Given the description of an element on the screen output the (x, y) to click on. 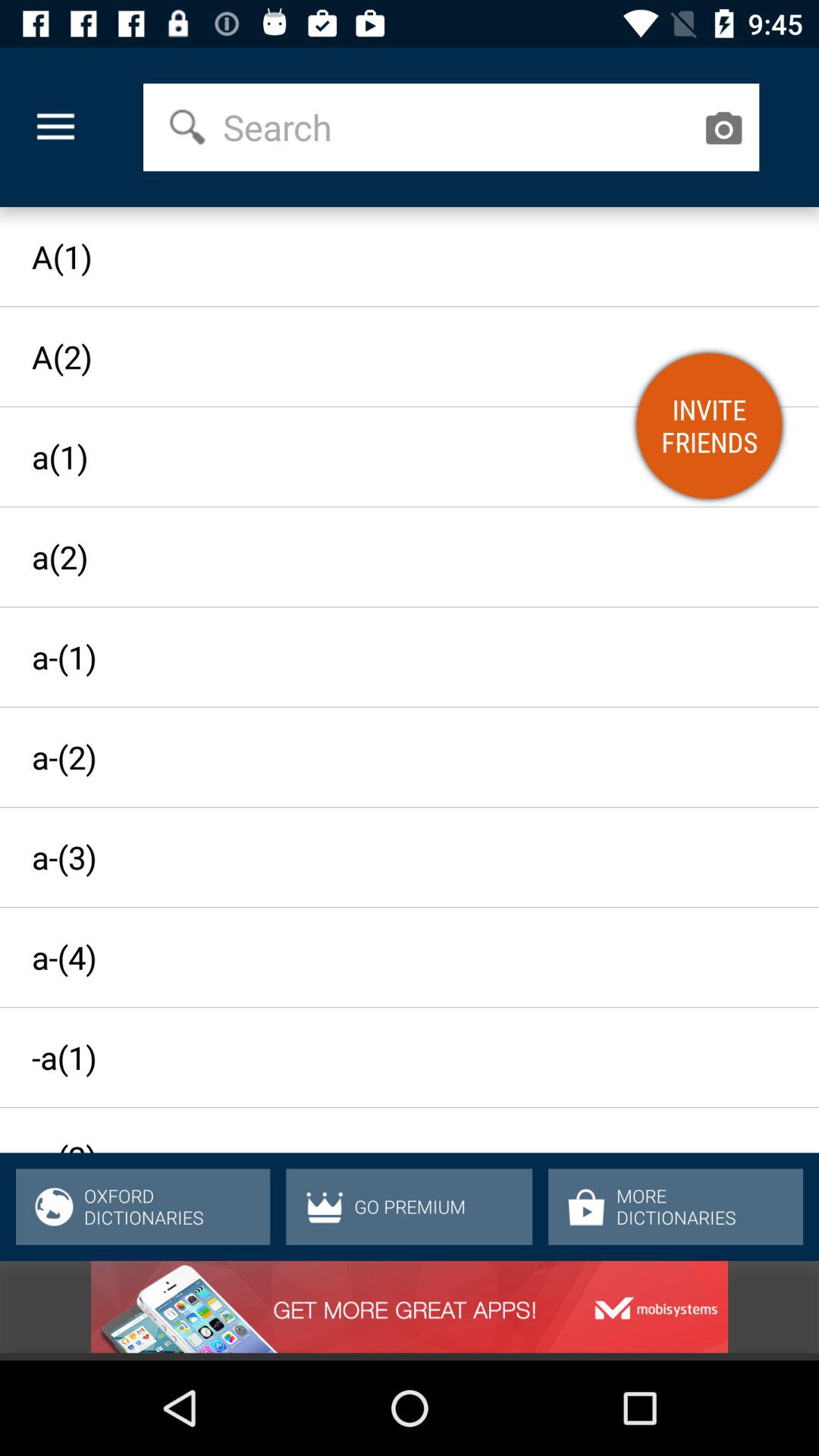
turn on the item below a-(2) item (395, 857)
